Given the description of an element on the screen output the (x, y) to click on. 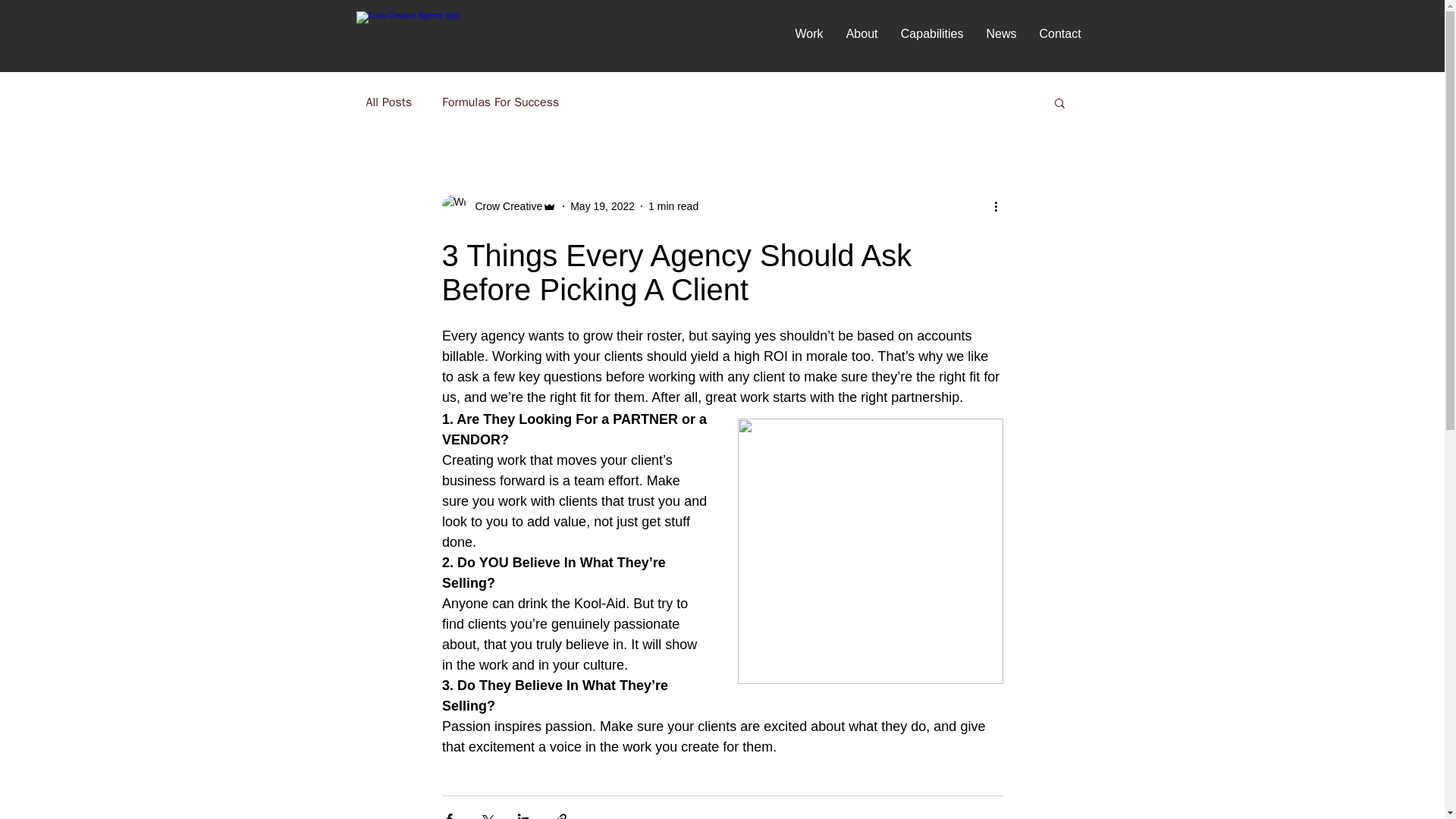
Crow Creative (498, 206)
News (1001, 33)
Formulas For Success (500, 101)
Contact (1060, 33)
All Posts (388, 101)
May 19, 2022 (602, 205)
Capabilities (931, 33)
1 min read (672, 205)
About (861, 33)
Work (809, 33)
Crow Creative (503, 206)
